Given the description of an element on the screen output the (x, y) to click on. 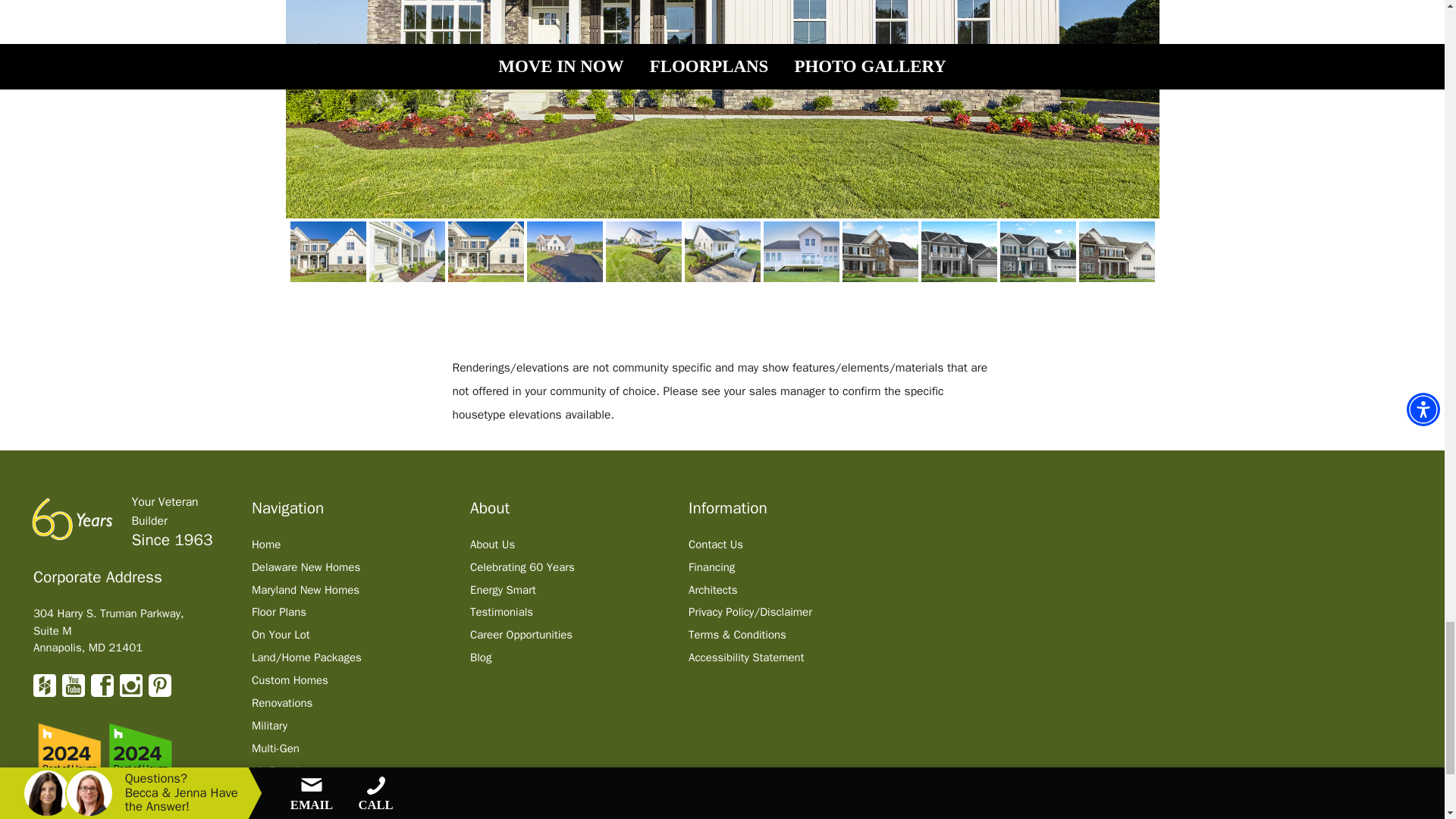
Custom Homes (290, 680)
On Your Lot (280, 634)
Military (268, 725)
Delaware New Homes (305, 567)
Maryland New Homes (305, 590)
Home (266, 544)
Floor Plans (278, 612)
Renovations (282, 703)
